Given the description of an element on the screen output the (x, y) to click on. 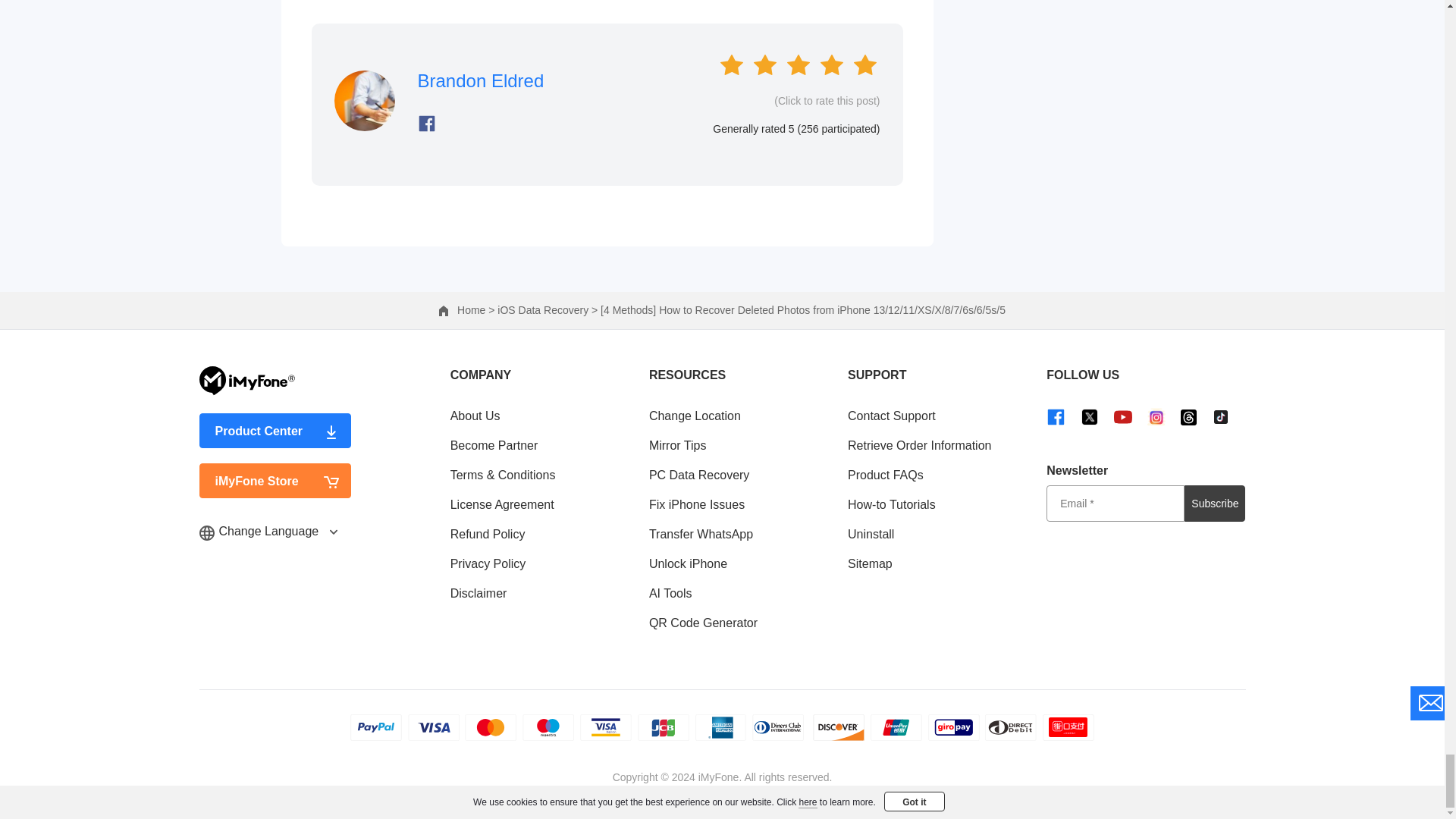
facebook (1055, 416)
ins (1156, 416)
tiktok (1220, 416)
youtube (1122, 416)
twitter (1089, 416)
